Given the description of an element on the screen output the (x, y) to click on. 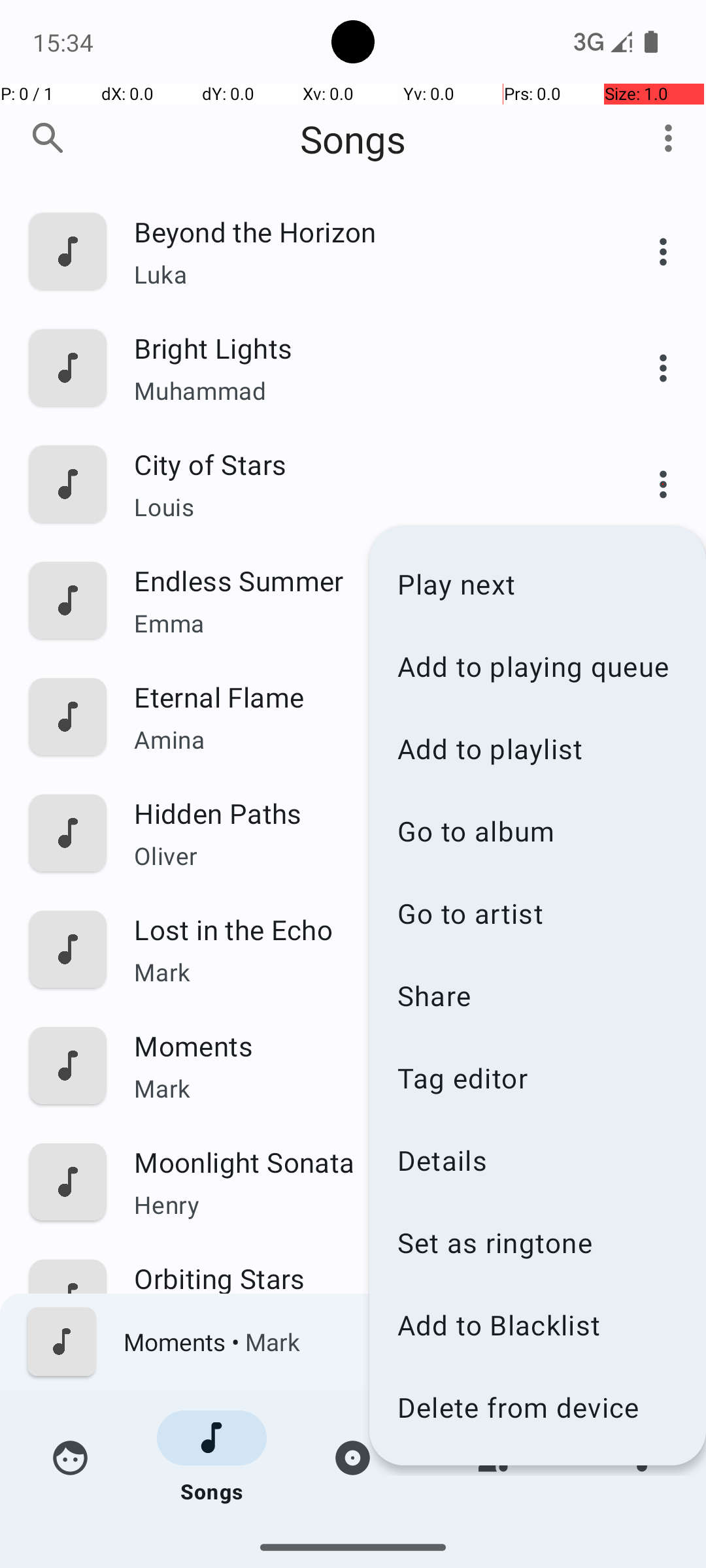
Play next Element type: android.widget.TextView (537, 583)
Add to playing queue Element type: android.widget.TextView (537, 665)
Add to playlist Element type: android.widget.TextView (537, 748)
Go to album Element type: android.widget.TextView (537, 830)
Go to artist Element type: android.widget.TextView (537, 912)
Tag editor Element type: android.widget.TextView (537, 1077)
Details Element type: android.widget.TextView (537, 1159)
Set as ringtone Element type: android.widget.TextView (537, 1241)
Add to Blacklist Element type: android.widget.TextView (537, 1324)
Delete from device Element type: android.widget.TextView (537, 1406)
